Given the description of an element on the screen output the (x, y) to click on. 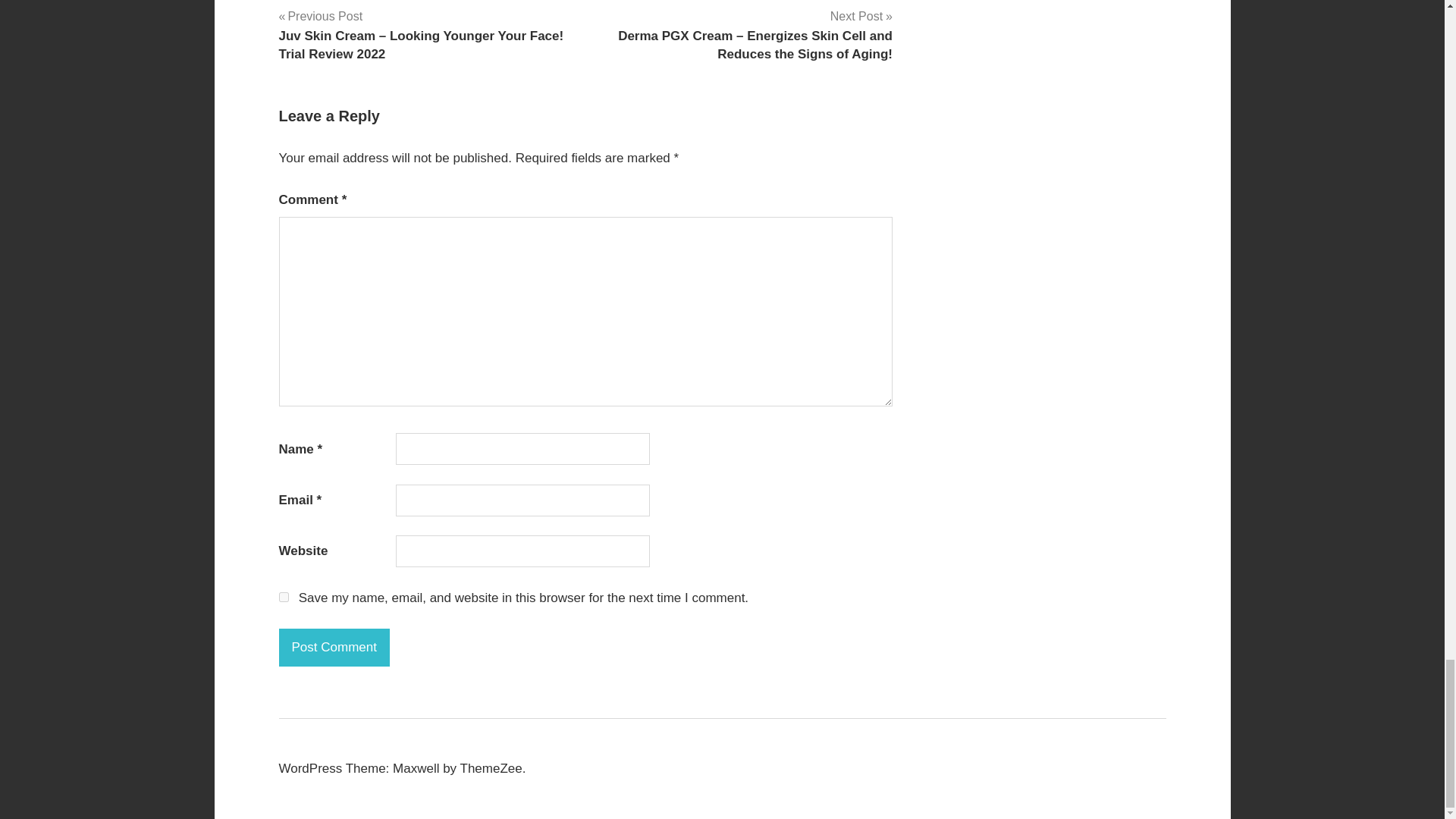
Post Comment (334, 647)
yes (283, 596)
